Given the description of an element on the screen output the (x, y) to click on. 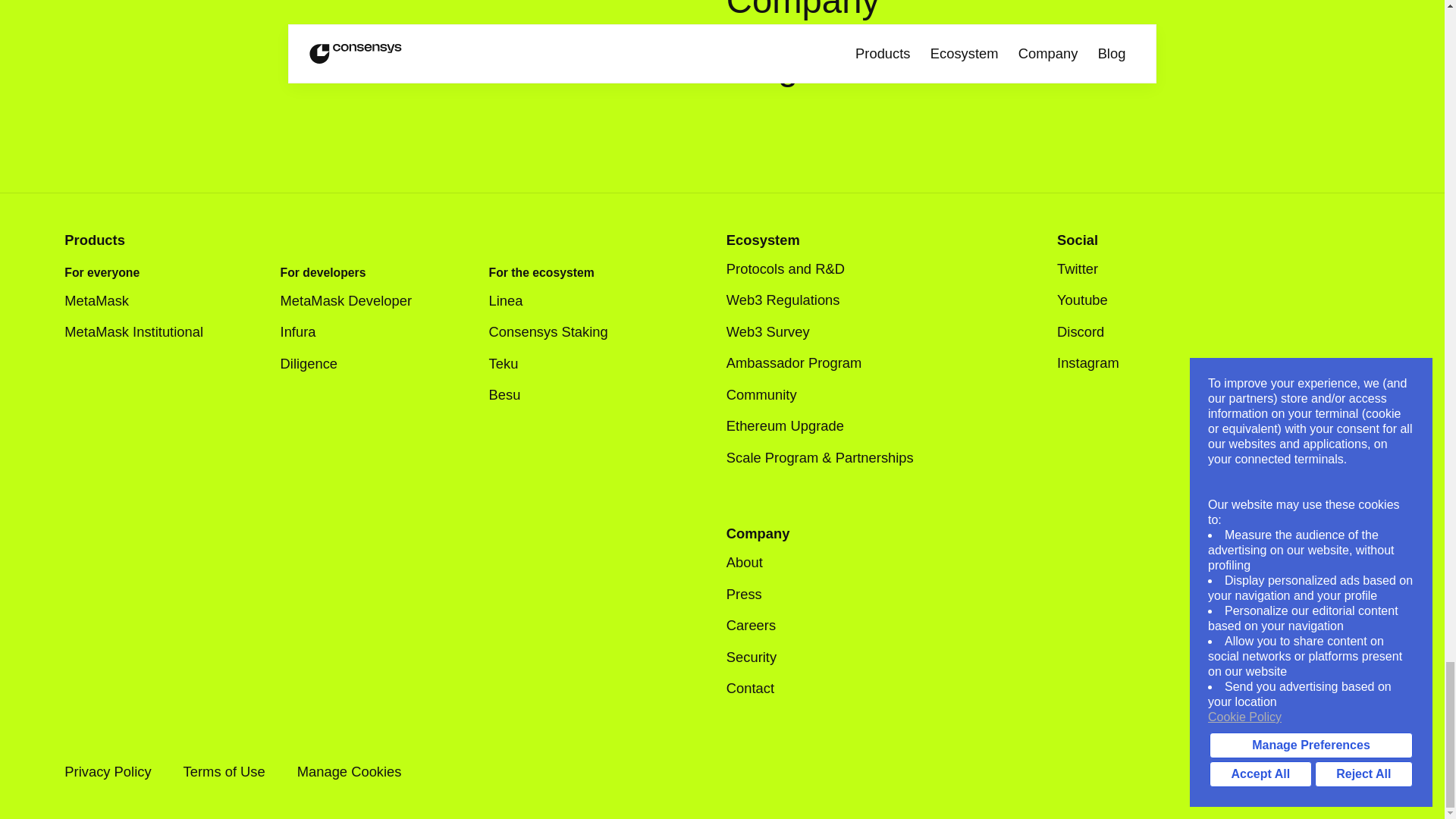
Linea (516, 301)
Infura (309, 332)
For developers (323, 272)
Blog (761, 67)
Company (802, 11)
MetaMask Developer (357, 301)
Consensys Staking (548, 332)
MetaMask (107, 301)
For the ecosystem (541, 272)
Diligence (320, 363)
For everyone (101, 272)
MetaMask Institutional (144, 332)
